Given the description of an element on the screen output the (x, y) to click on. 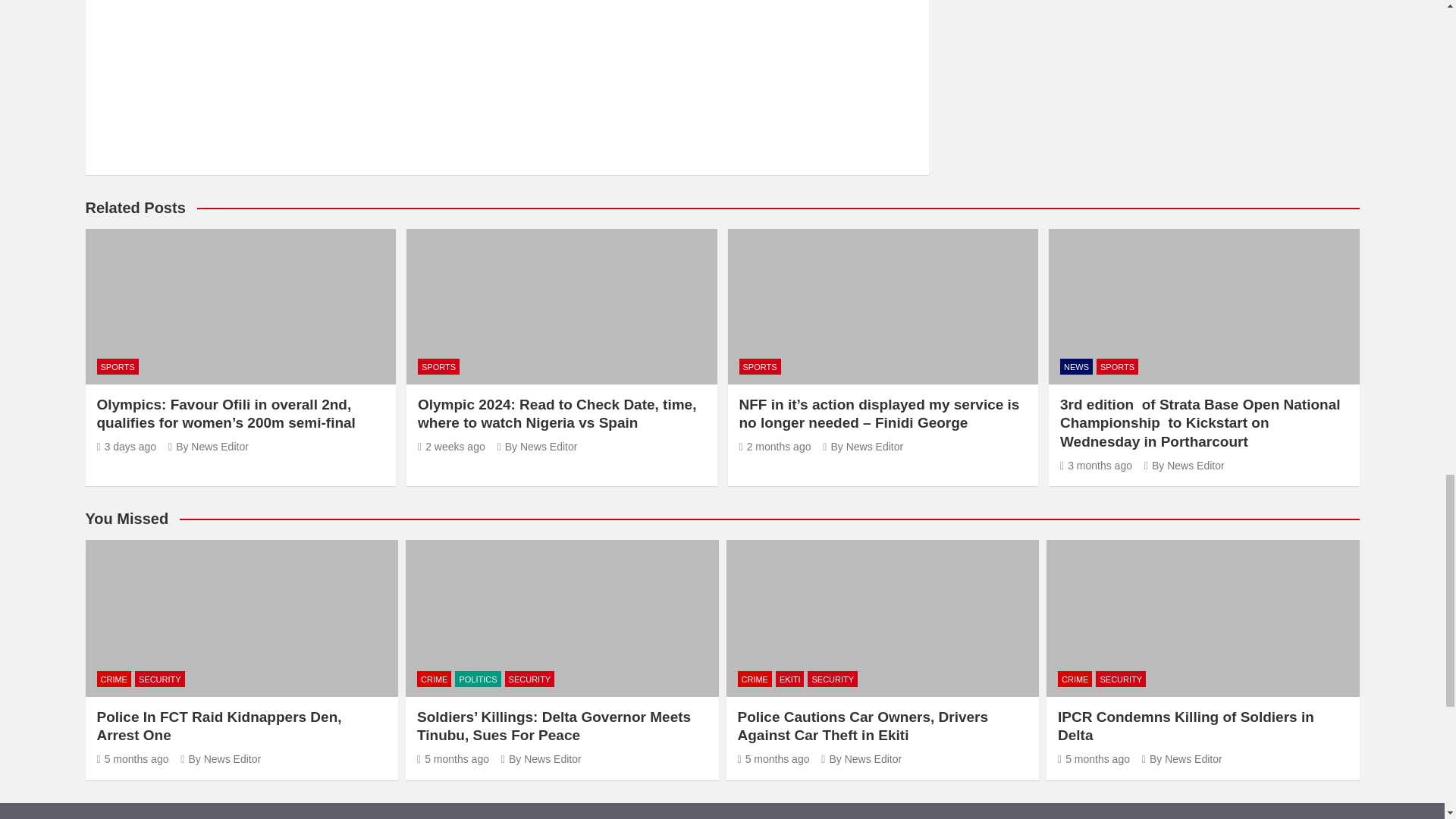
Comment Form (507, 74)
Police In FCT Raid Kidnappers Den, Arrest One (132, 758)
